Given the description of an element on the screen output the (x, y) to click on. 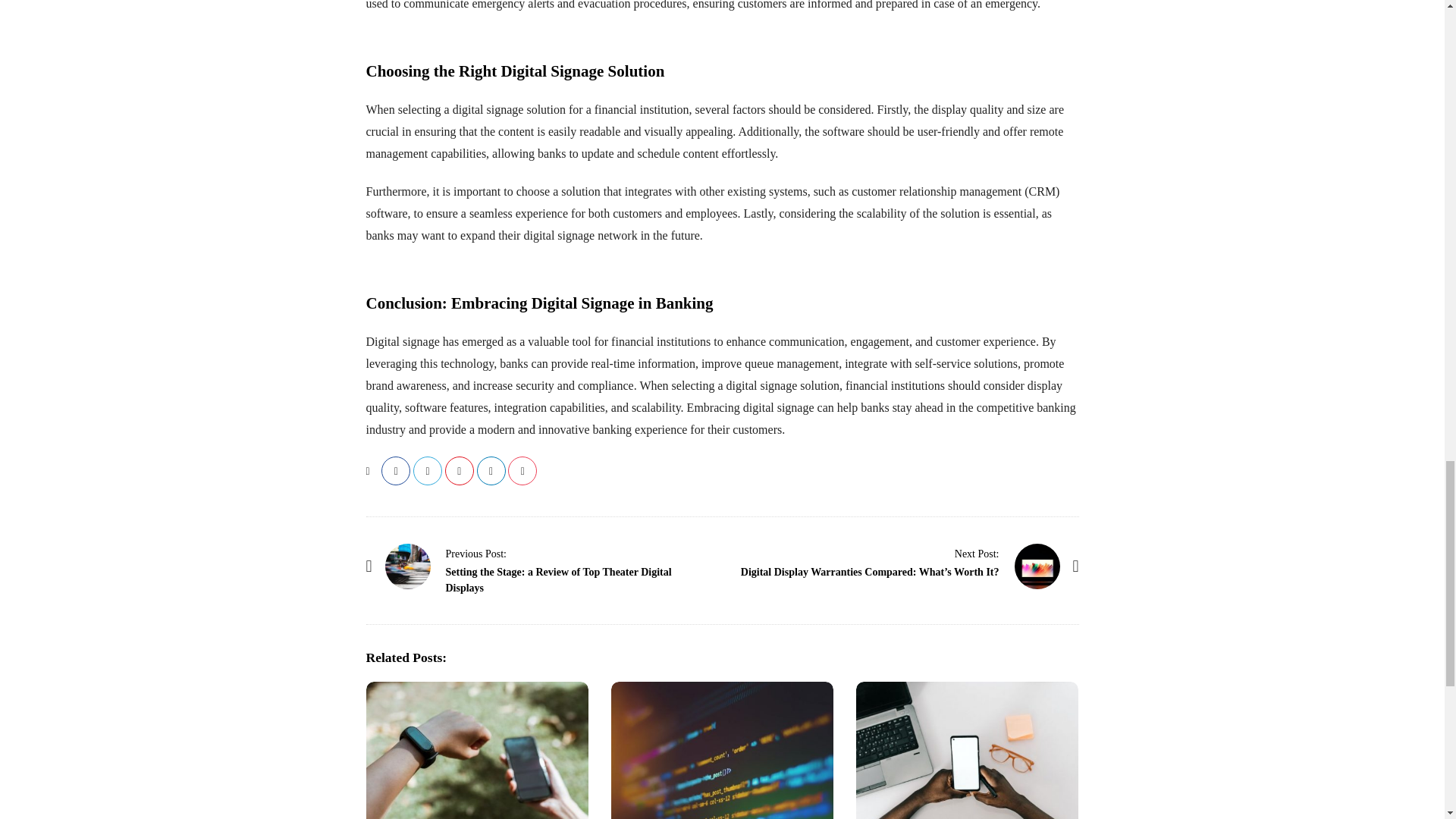
Next Post: (976, 553)
Previous Post: (475, 553)
Setting the Stage: a Review of Top Theater Digital Displays (558, 579)
Review: Which Sports Bar Digital Displays Score Big? (476, 750)
Setting the Stage: a Review of Top Theater Digital Displays (407, 565)
Setting the Stage: a Review of Top Theater Digital Displays (475, 553)
